Given the description of an element on the screen output the (x, y) to click on. 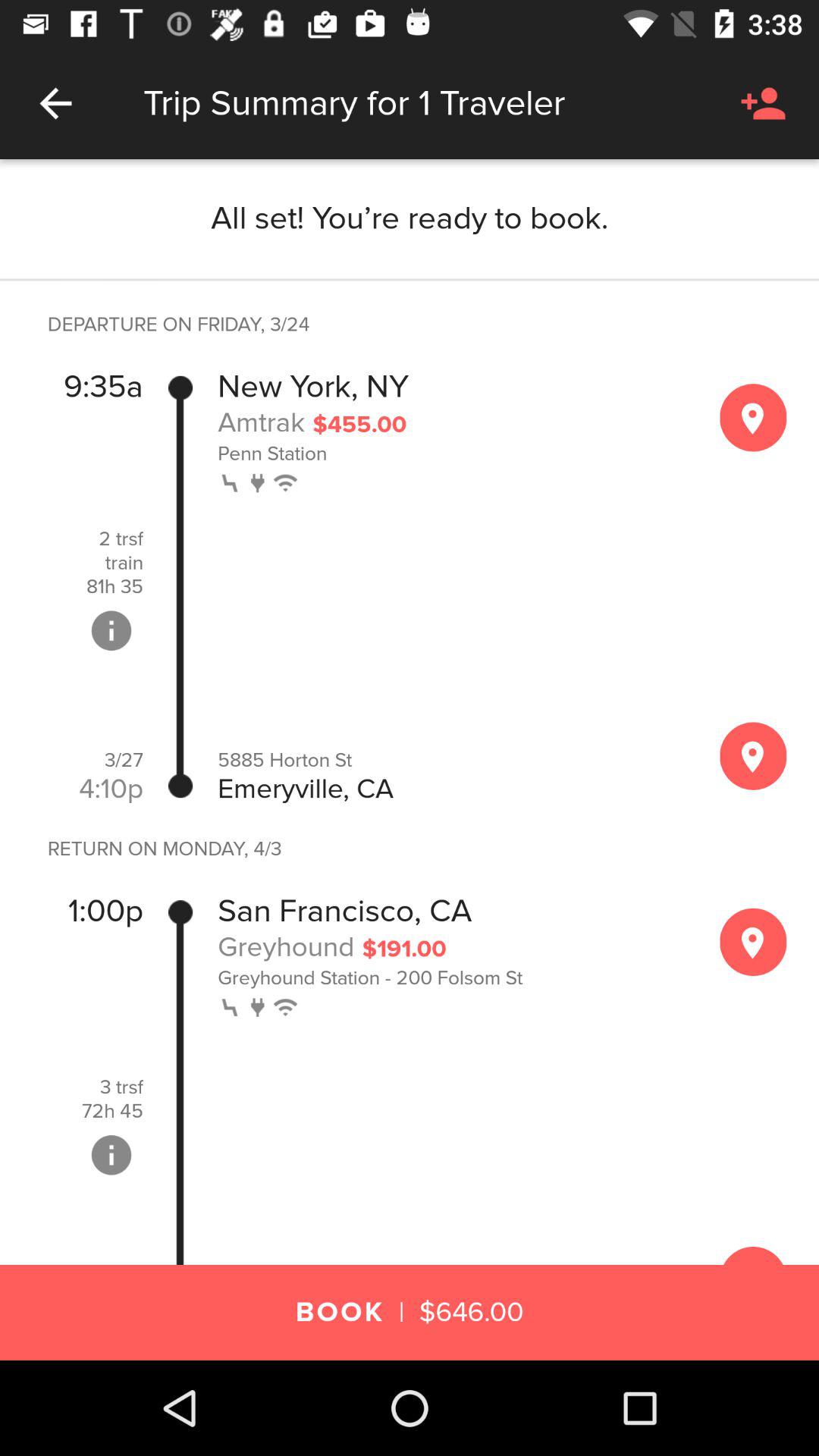
select the item above the 3 trsf item (105, 911)
